Given the description of an element on the screen output the (x, y) to click on. 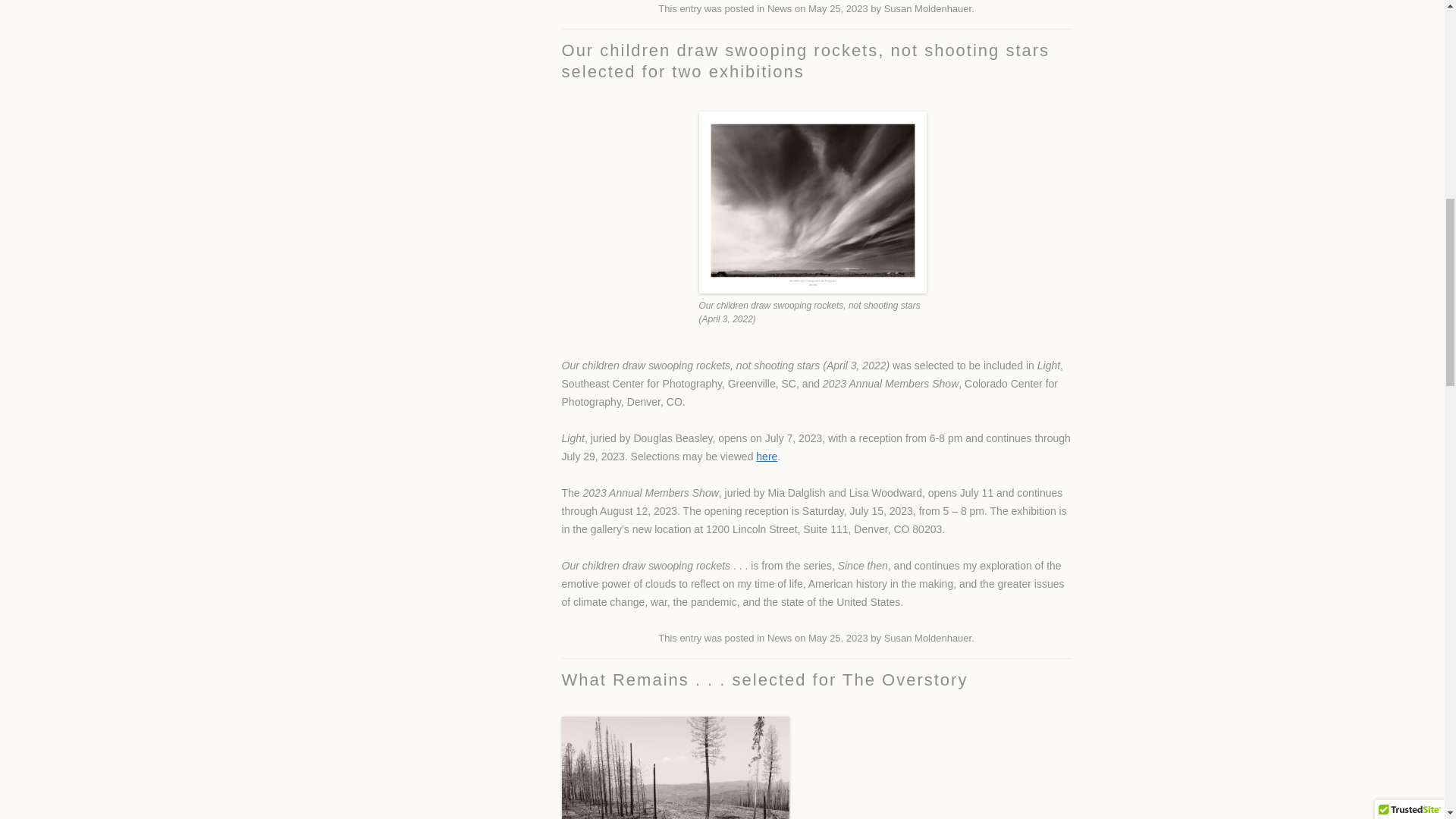
What Remains . . . selected for The Overstory (765, 679)
8:56 am (837, 8)
News (779, 8)
here (766, 456)
May 25, 2023 (837, 8)
Susan Moldenhauer (927, 8)
News (779, 637)
View all posts by Susan Moldenhauer (927, 637)
Susan Moldenhauer (927, 637)
May 25, 2023 (837, 637)
8:23 am (837, 637)
View all posts by Susan Moldenhauer (927, 8)
